Given the description of an element on the screen output the (x, y) to click on. 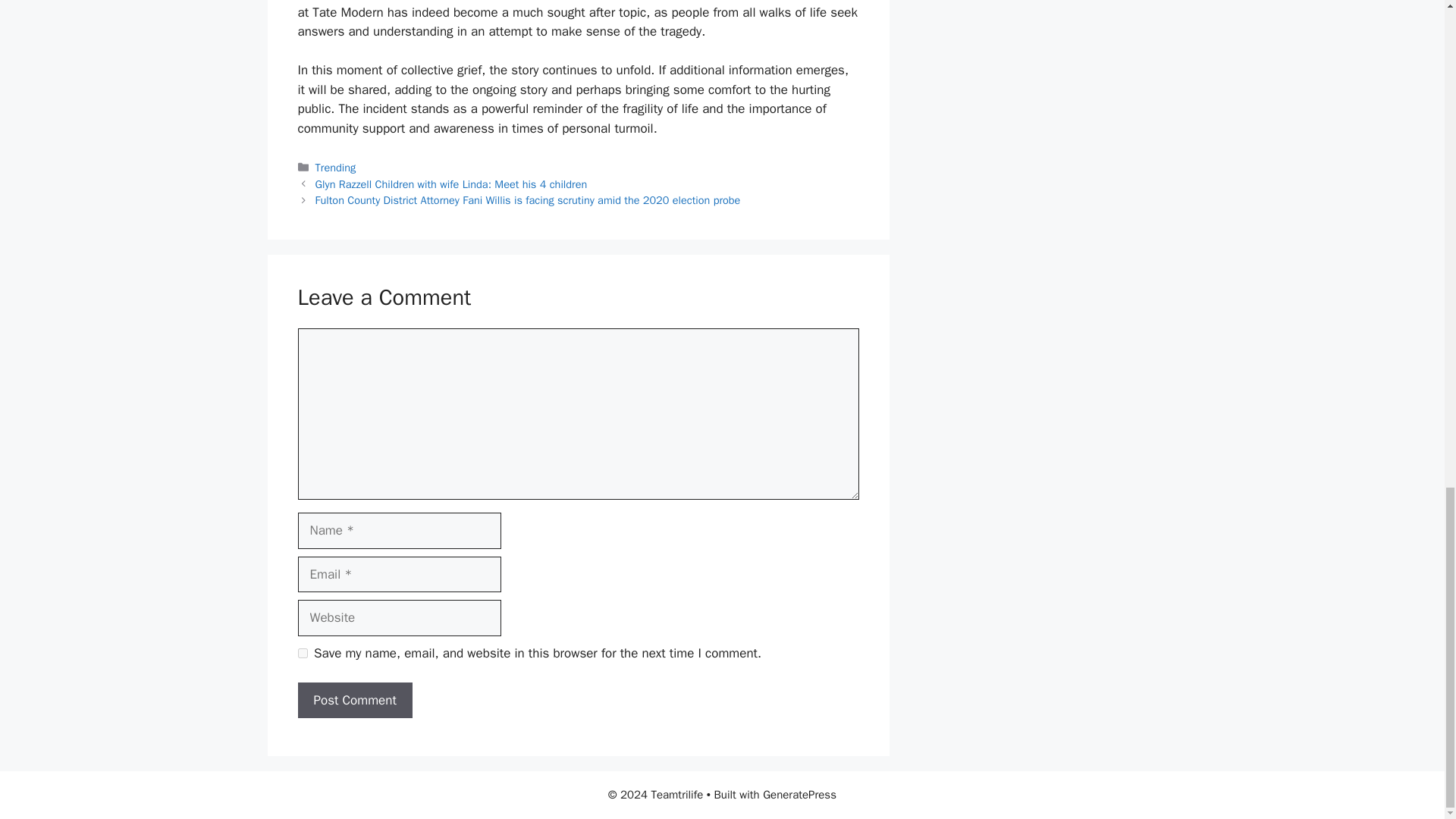
Post Comment (354, 700)
Post Comment (354, 700)
Glyn Razzell Children with wife Linda: Meet his 4 children (451, 183)
Trending (335, 167)
yes (302, 653)
